Given the description of an element on the screen output the (x, y) to click on. 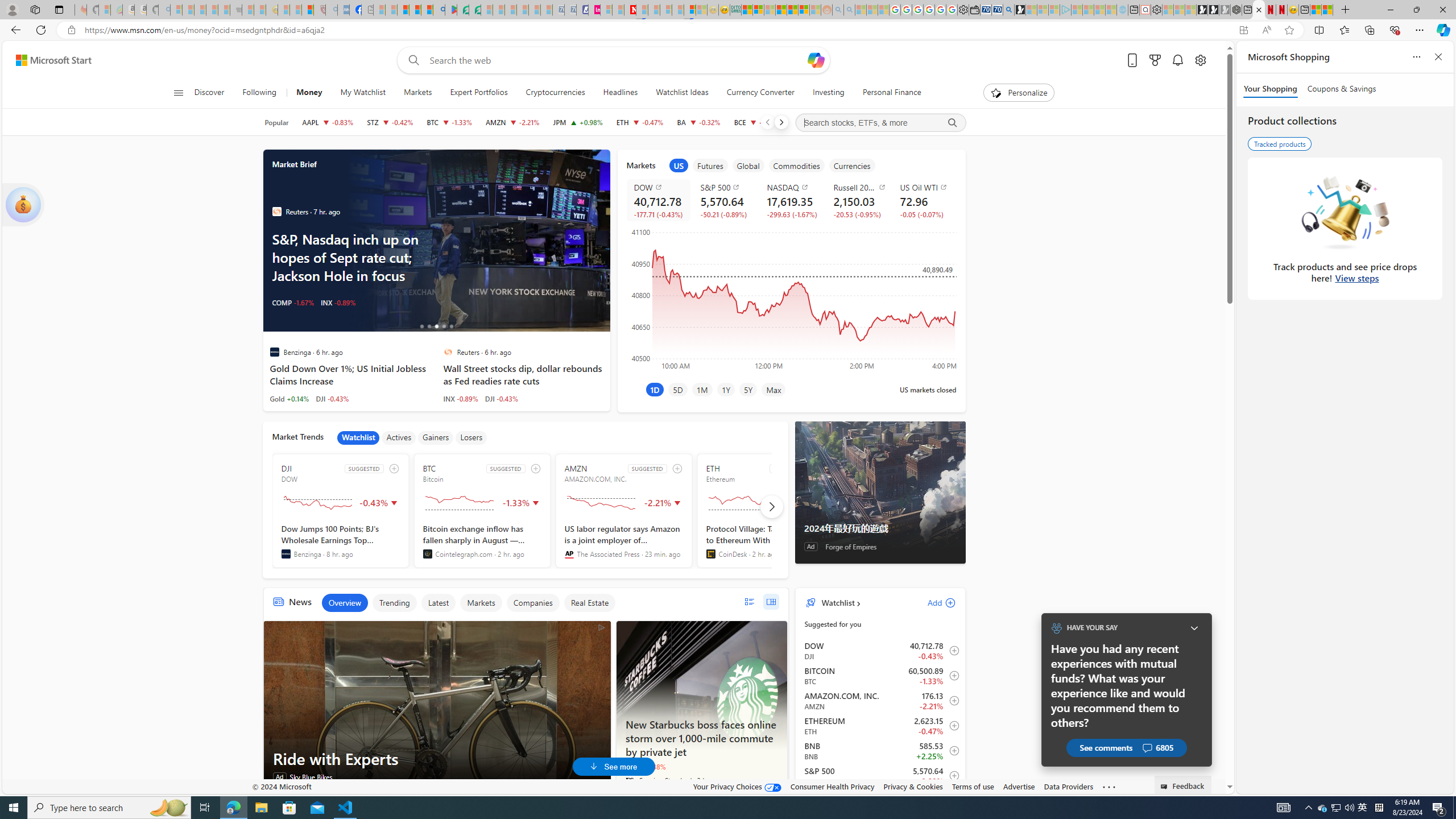
show card (22, 204)
Headlines (620, 92)
Enter your search term (617, 59)
INX -0.89% (460, 397)
5D (677, 389)
BTC Bitcoin decrease 60,500.89 -806.48 -1.33% (449, 122)
Max (773, 389)
Gold +0.14% (288, 397)
My Watchlist (362, 92)
